Given the description of an element on the screen output the (x, y) to click on. 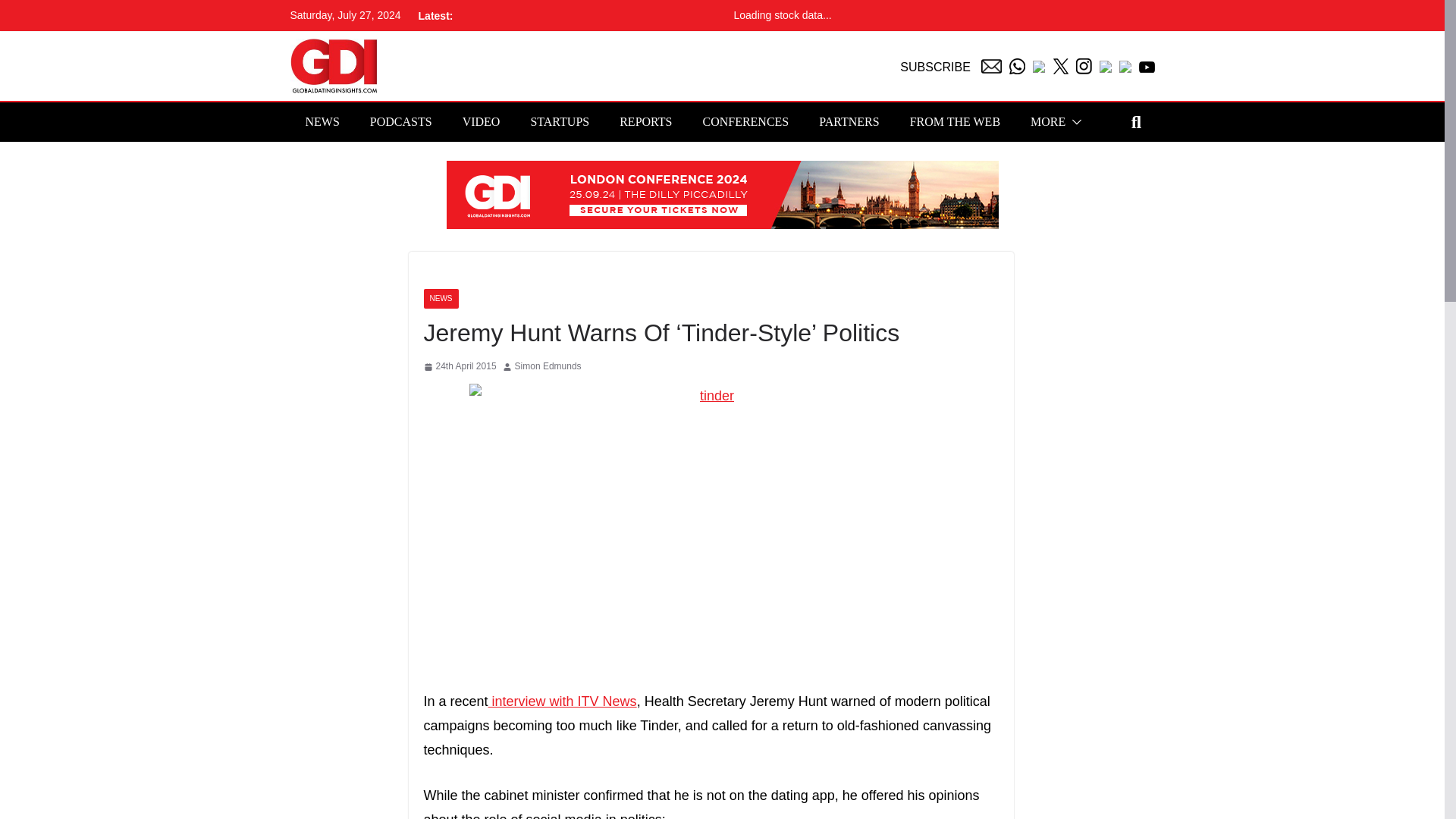
REPORTS (645, 121)
MORE (1047, 121)
24th April 2015 (459, 366)
PARTNERS (848, 121)
NEWS (321, 121)
4:12 pm (459, 366)
STARTUPS (559, 121)
PODCASTS (400, 121)
NEWS (440, 298)
interview with ITV News (562, 701)
CONFERENCES (745, 121)
VIDEO (481, 121)
FROM THE WEB (955, 121)
Simon Edmunds (547, 366)
Simon Edmunds (547, 366)
